Given the description of an element on the screen output the (x, y) to click on. 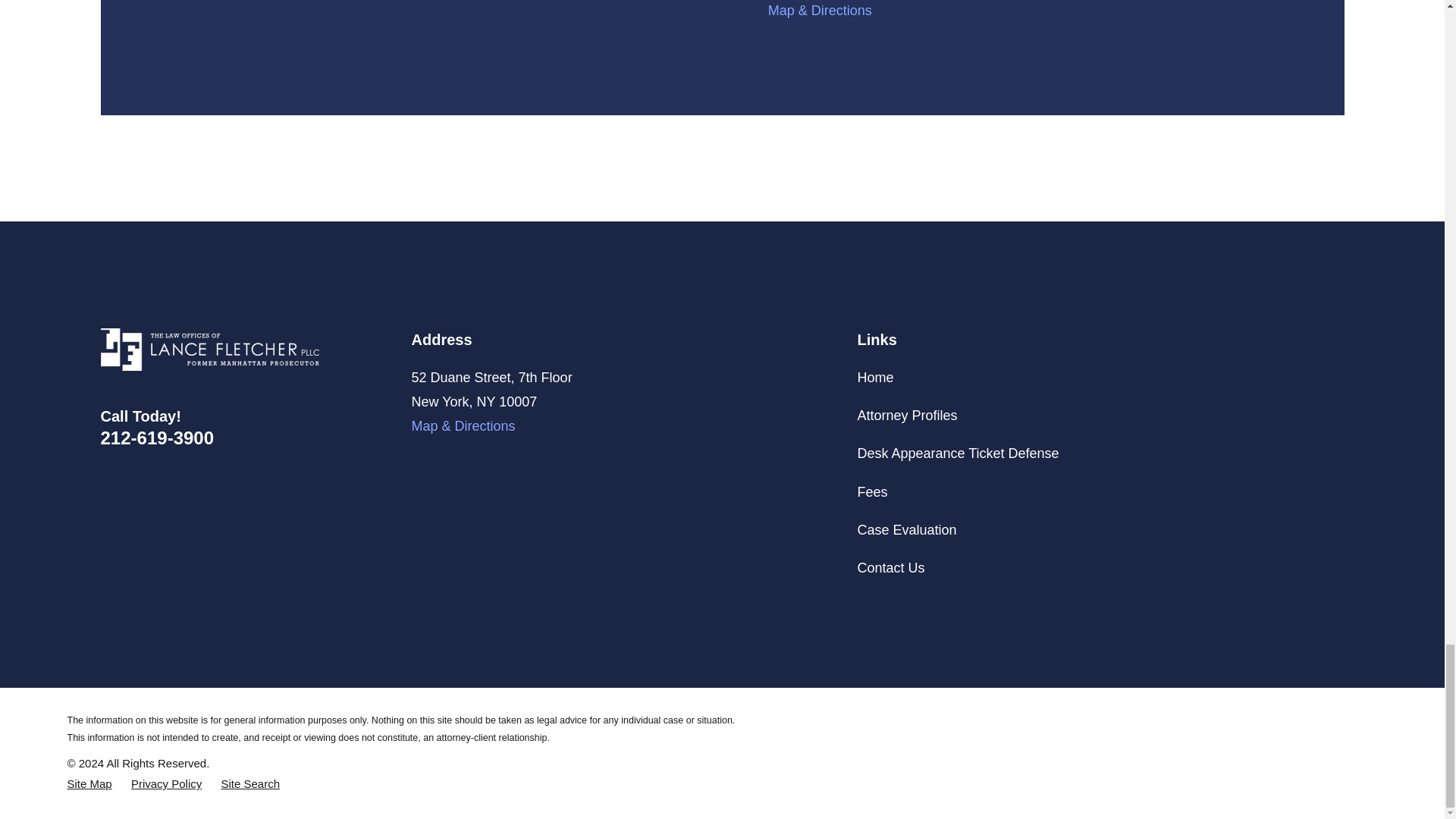
Home (209, 349)
